Given the description of an element on the screen output the (x, y) to click on. 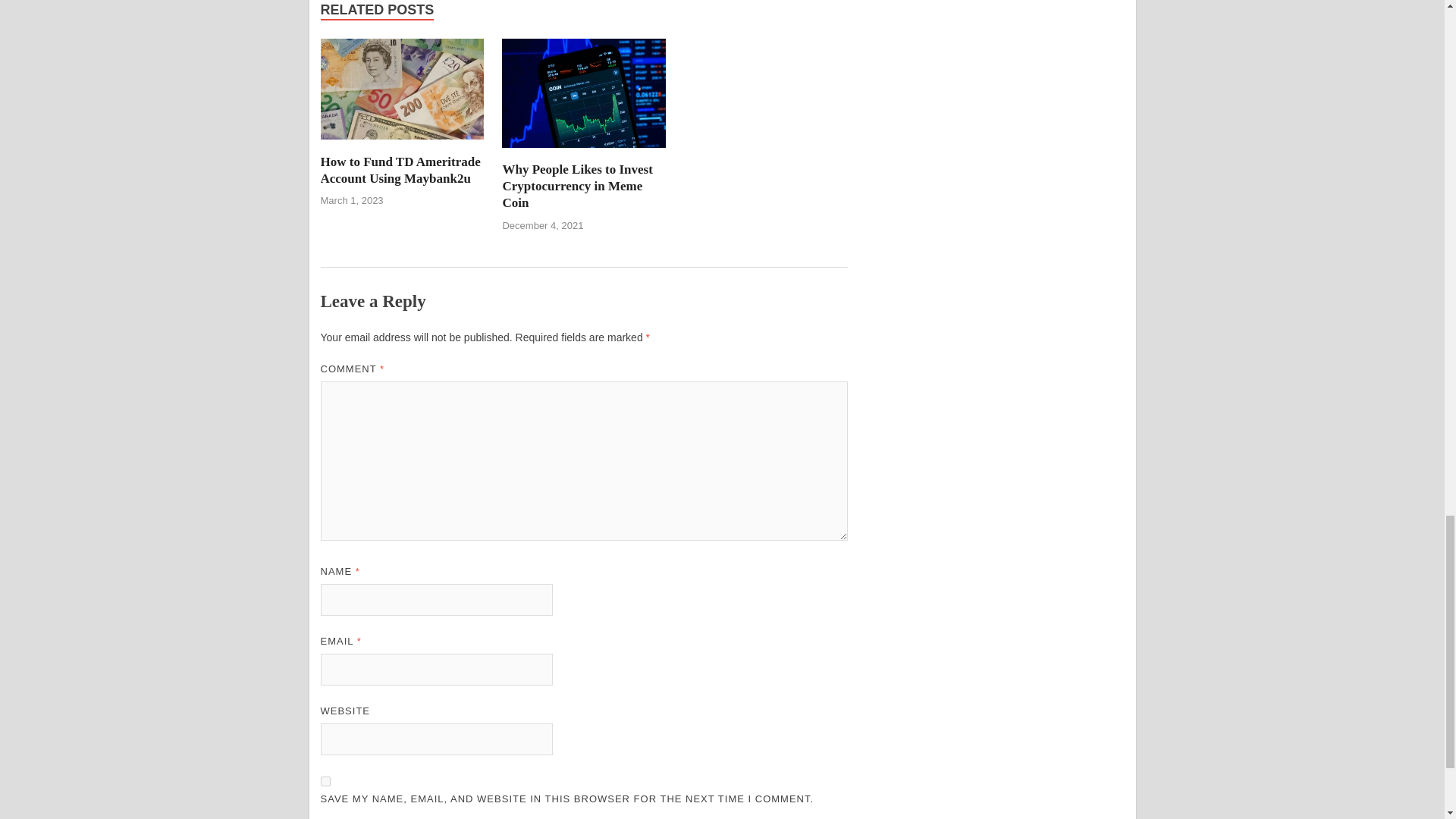
yes (325, 781)
How to Fund TD Ameritrade Account Using Maybank2u (401, 144)
Why People Likes to Invest Cryptocurrency in Meme Coin (583, 151)
How to Fund TD Ameritrade Account Using Maybank2u (400, 169)
Why People Likes to Invest Cryptocurrency in Meme Coin (577, 185)
How to Fund TD Ameritrade Account Using Maybank2u (400, 169)
